Given the description of an element on the screen output the (x, y) to click on. 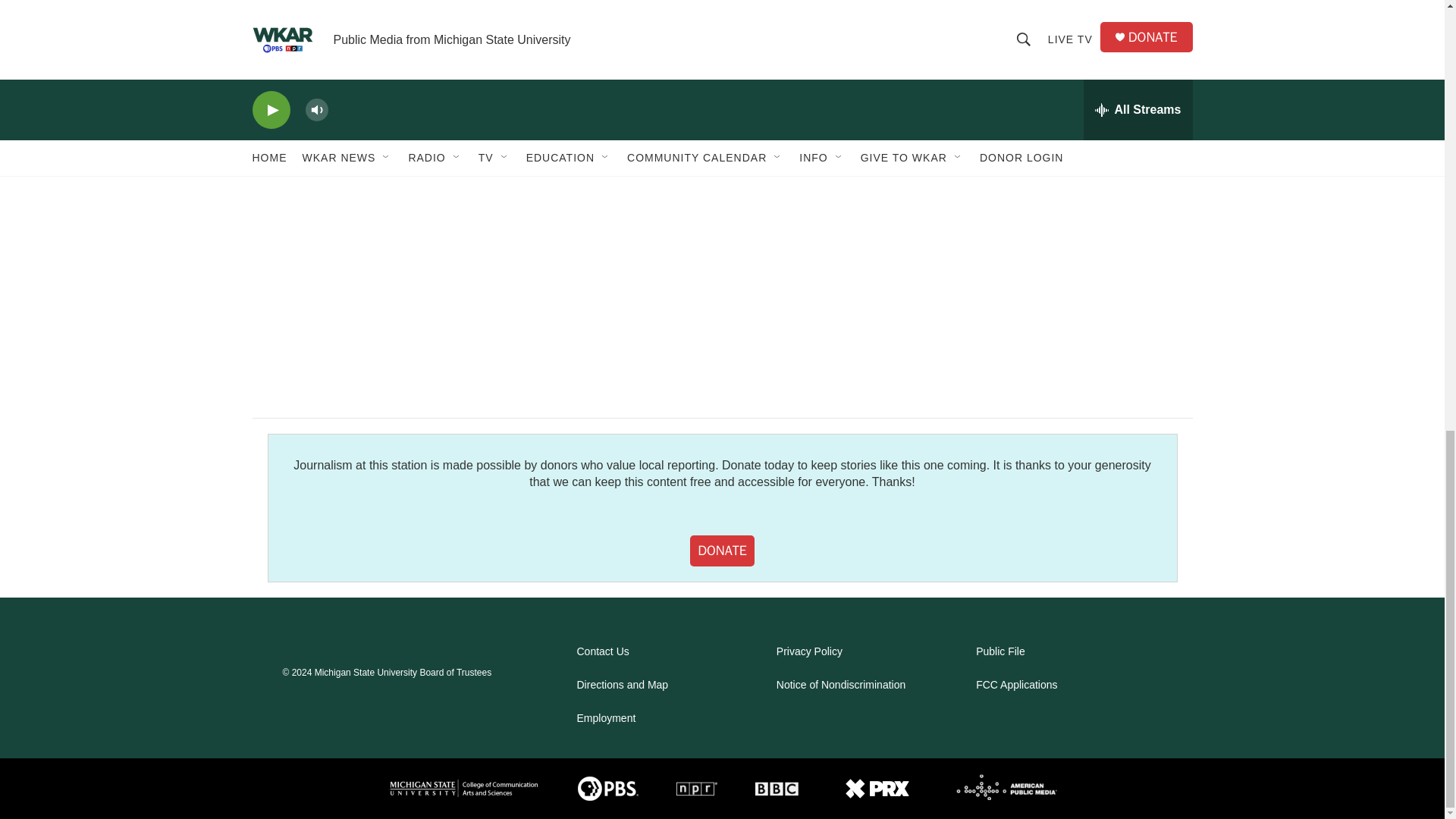
3rd party ad content (1062, 262)
3rd party ad content (1062, 54)
